Given the description of an element on the screen output the (x, y) to click on. 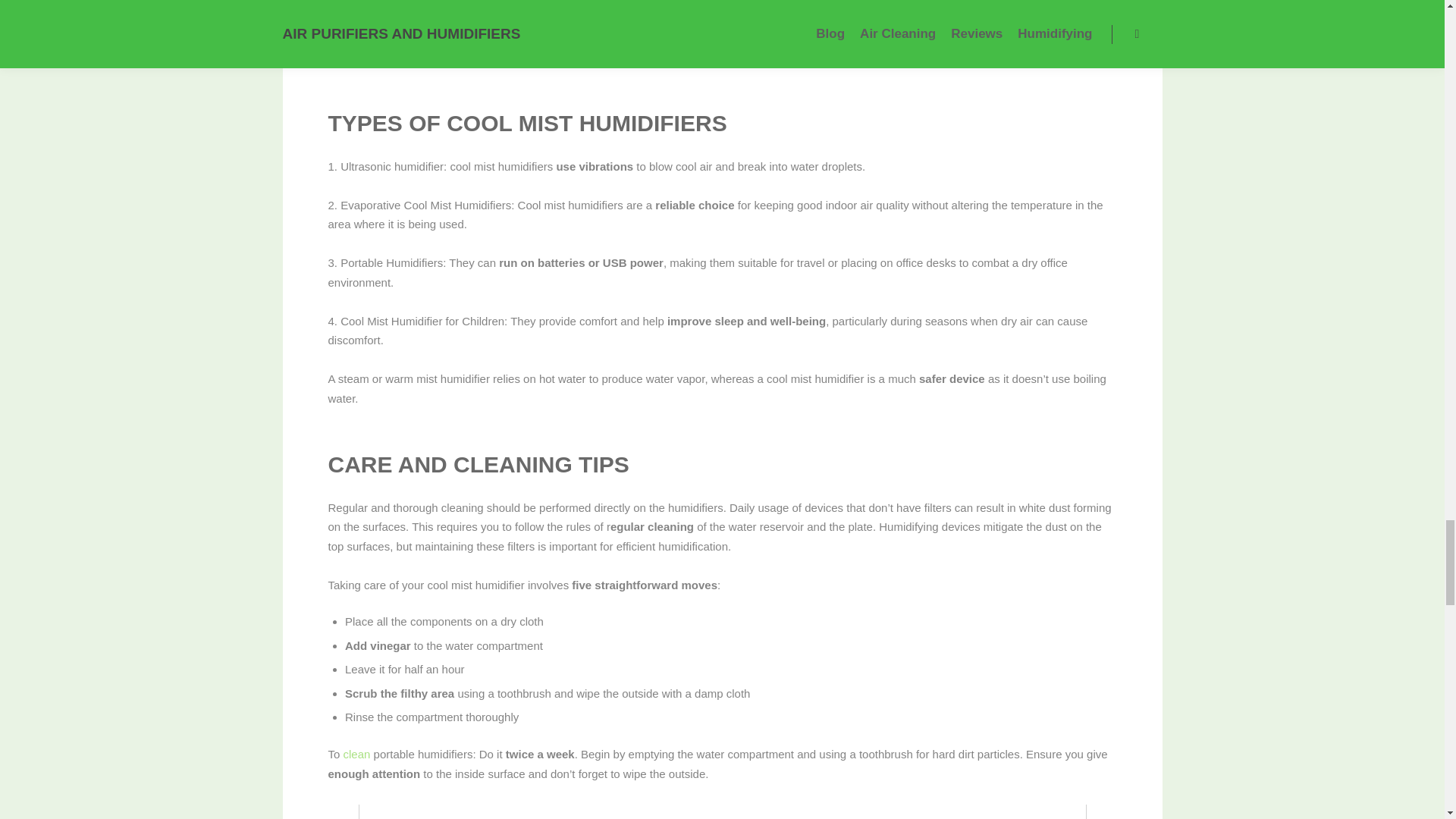
clean (357, 753)
